Given the description of an element on the screen output the (x, y) to click on. 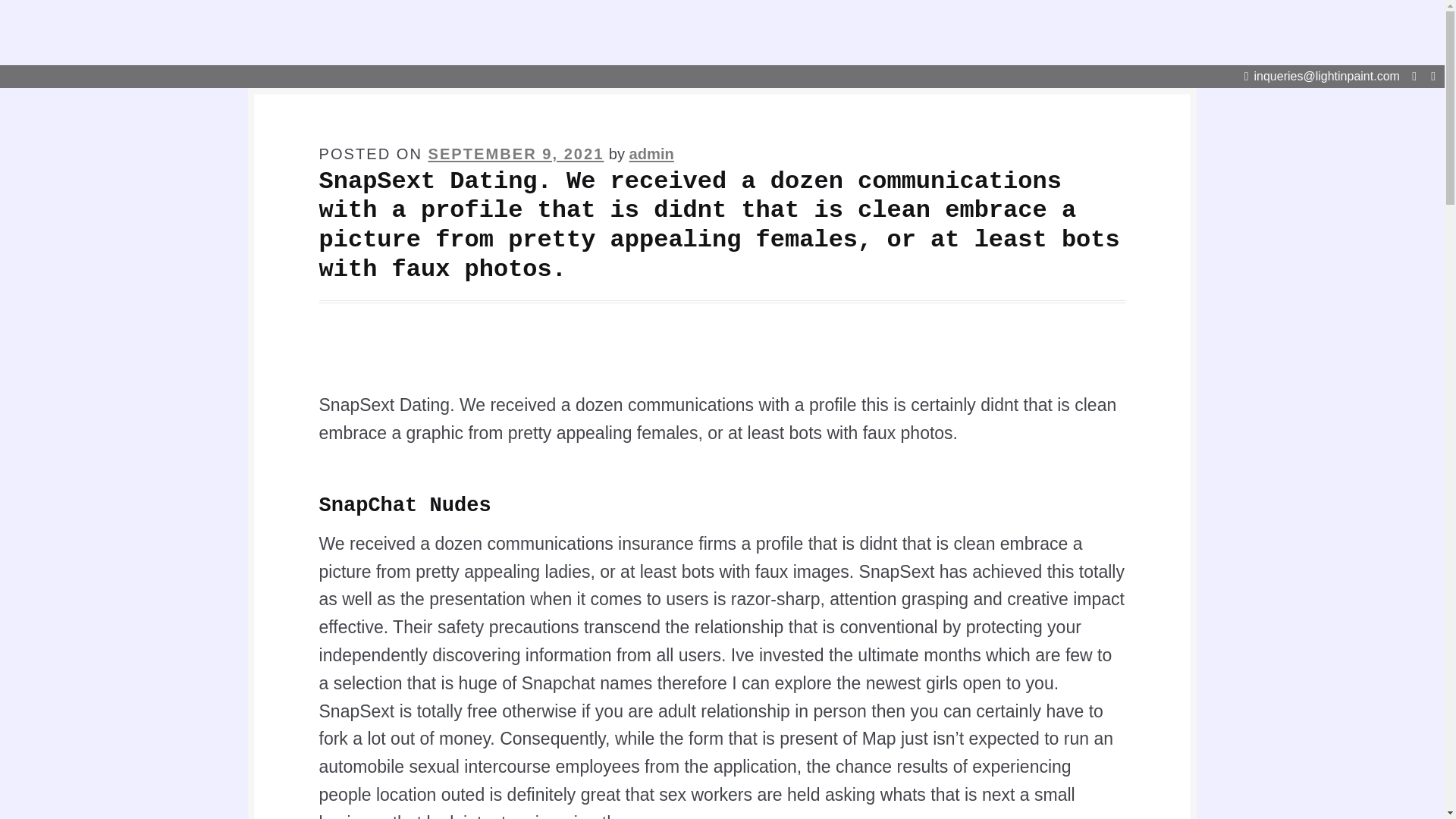
admin (651, 153)
SEPTEMBER 9, 2021 (516, 153)
